Given the description of an element on the screen output the (x, y) to click on. 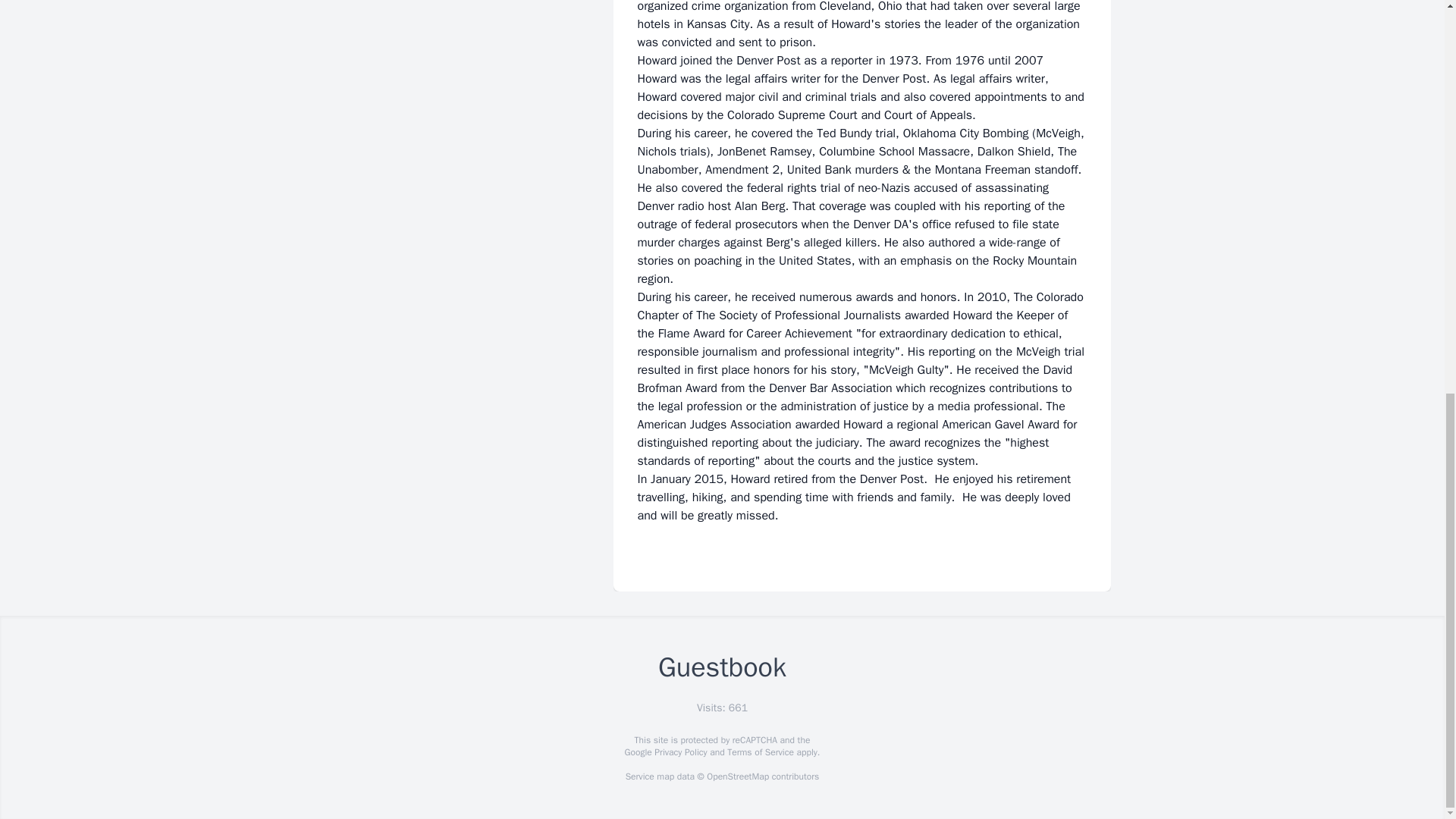
OpenStreetMap (737, 776)
Privacy Policy (679, 752)
Terms of Service (759, 752)
